Given the description of an element on the screen output the (x, y) to click on. 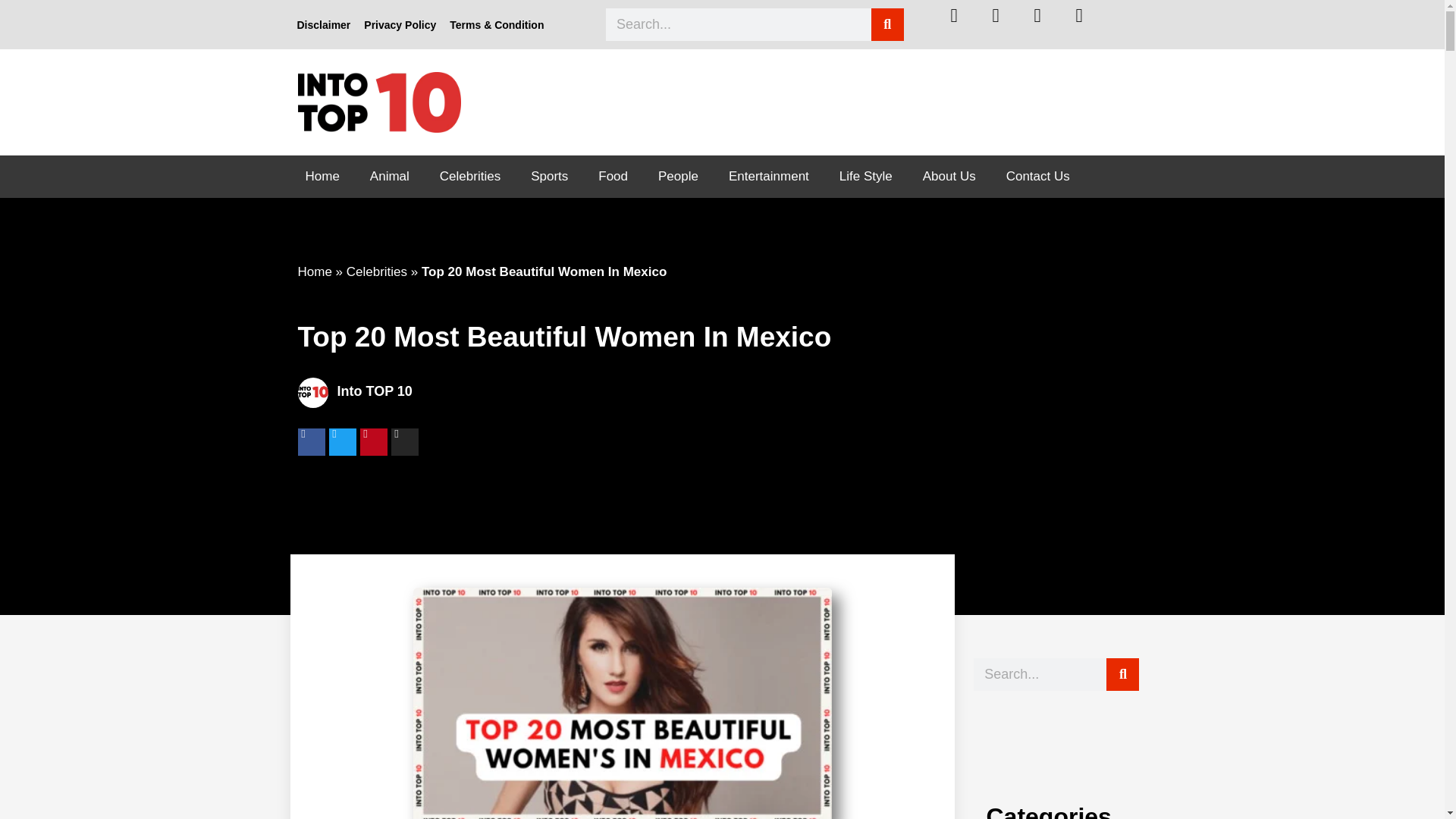
Entertainment (768, 176)
Disclaimer (322, 24)
Into TOP 10 (655, 392)
Home (314, 271)
Animal (390, 176)
Sports (549, 176)
About Us (949, 176)
Privacy Policy (399, 24)
People (678, 176)
Celebrities (470, 176)
